Given the description of an element on the screen output the (x, y) to click on. 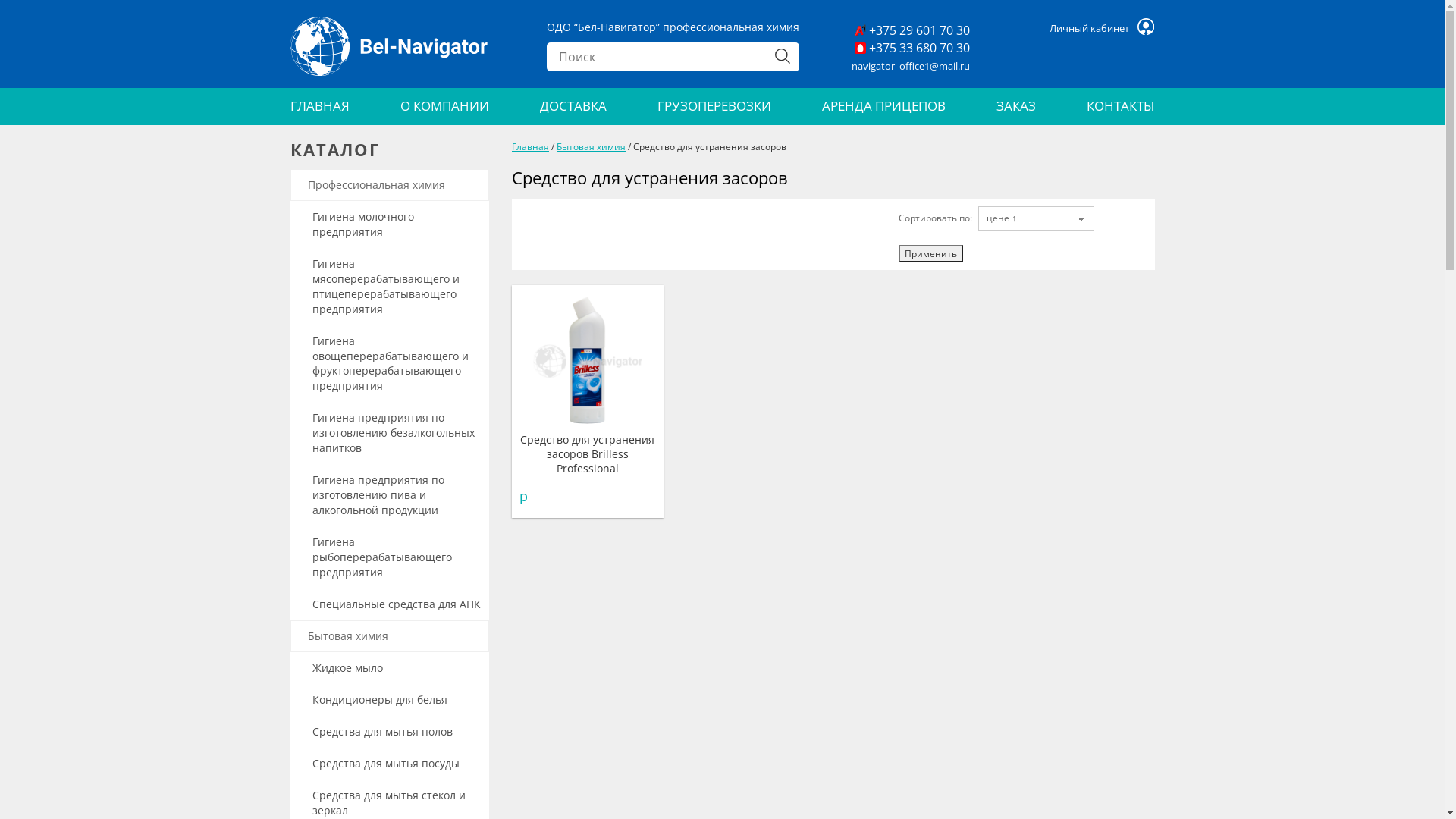
navigator_office1@mail.ru Element type: text (910, 66)
+375 33 680 70 30 Element type: text (911, 47)
 +375 29 601 70 30 Element type: text (911, 30)
